Given the description of an element on the screen output the (x, y) to click on. 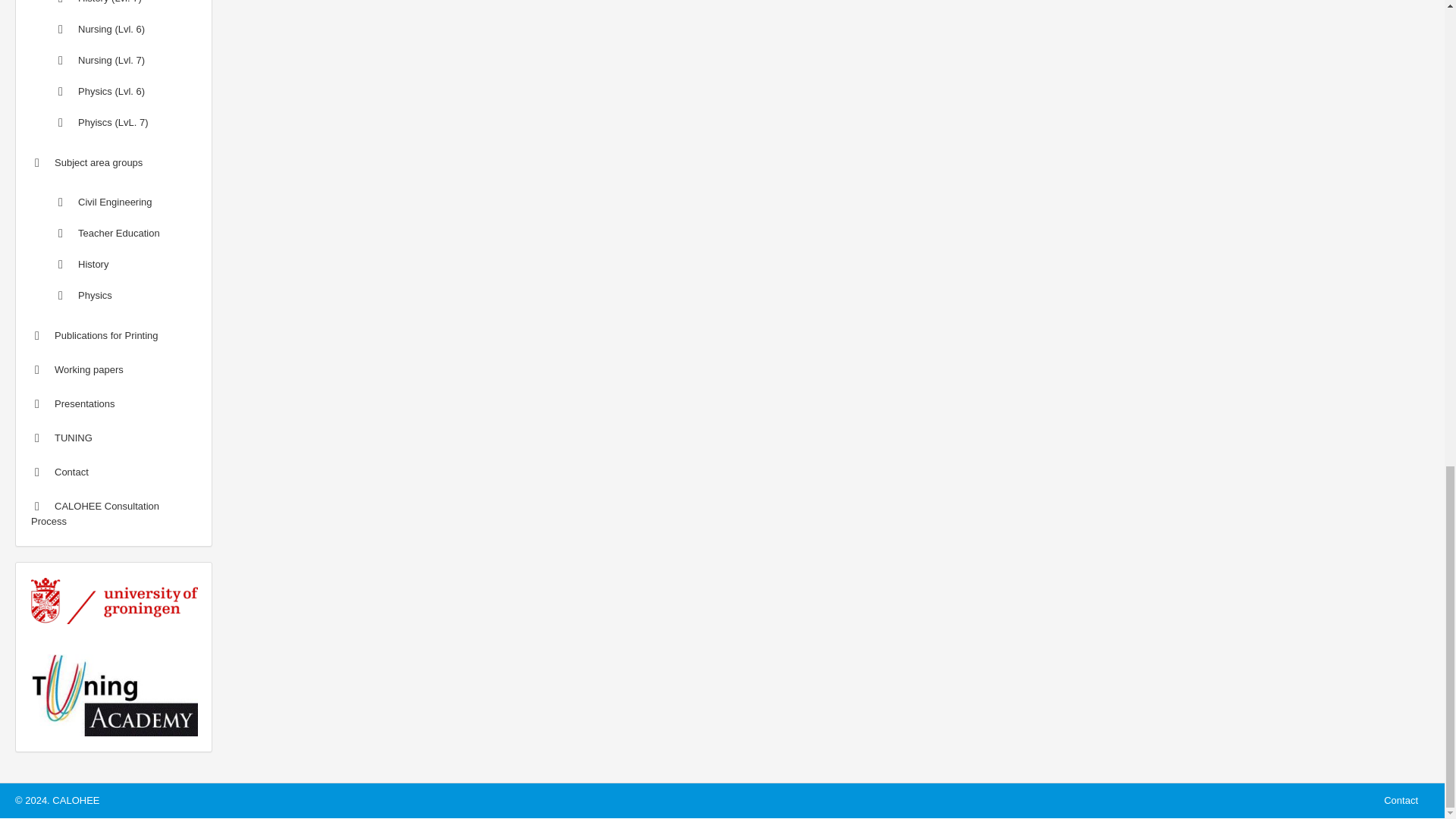
Presentations (113, 403)
Publications for Printing (113, 335)
History (113, 264)
Teacher Education (113, 233)
TUNING (113, 438)
Physics (113, 295)
Civil Engineering (113, 202)
Subject area groups (113, 162)
Working papers (113, 369)
Contact (113, 471)
